Given the description of an element on the screen output the (x, y) to click on. 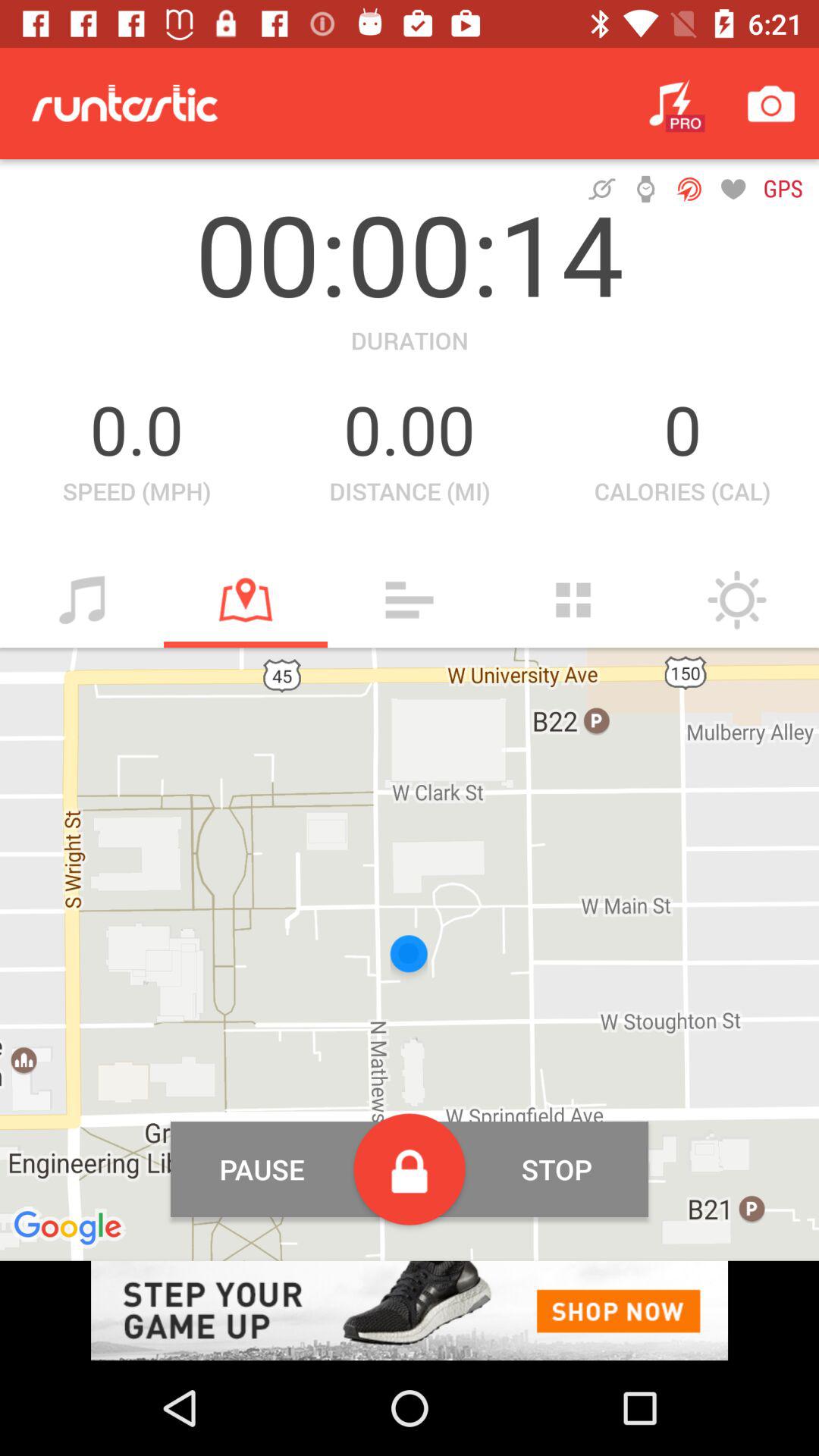
map (245, 599)
